Given the description of an element on the screen output the (x, y) to click on. 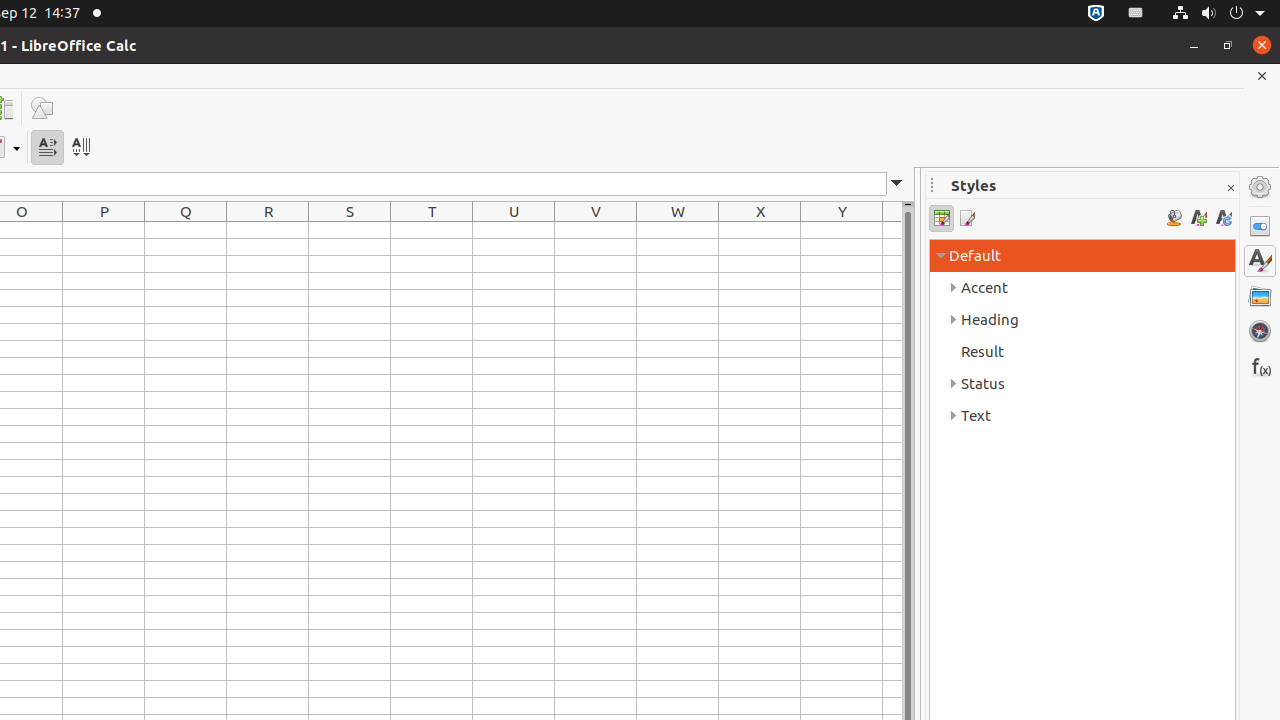
Z1 Element type: table-cell (892, 230)
New Style from Selection Element type: push-button (1198, 218)
X1 Element type: table-cell (760, 230)
Text direction from top to bottom Element type: toggle-button (80, 147)
Functions Element type: radio-button (1260, 366)
